Given the description of an element on the screen output the (x, y) to click on. 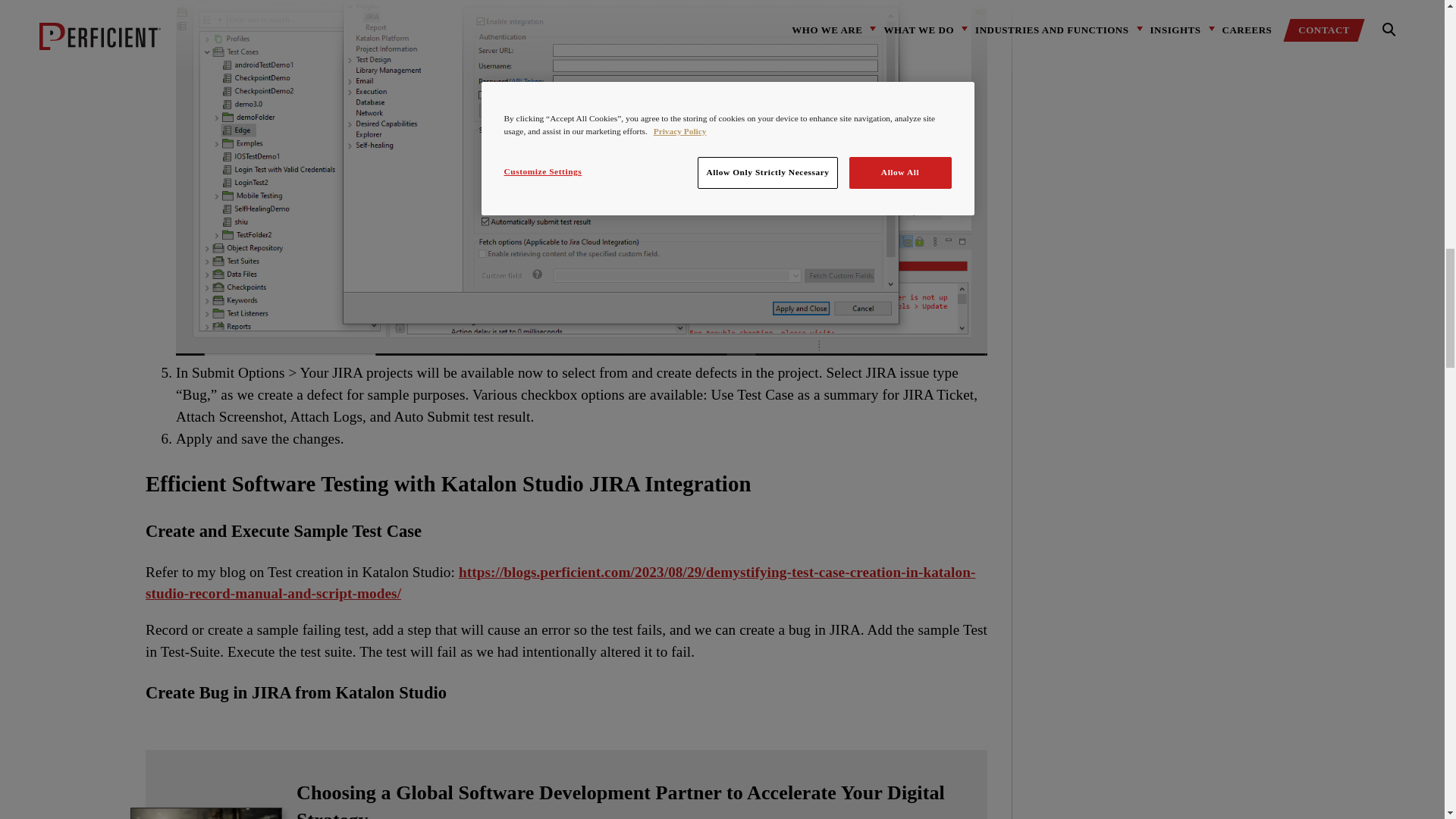
Get the Guide (566, 784)
